Given the description of an element on the screen output the (x, y) to click on. 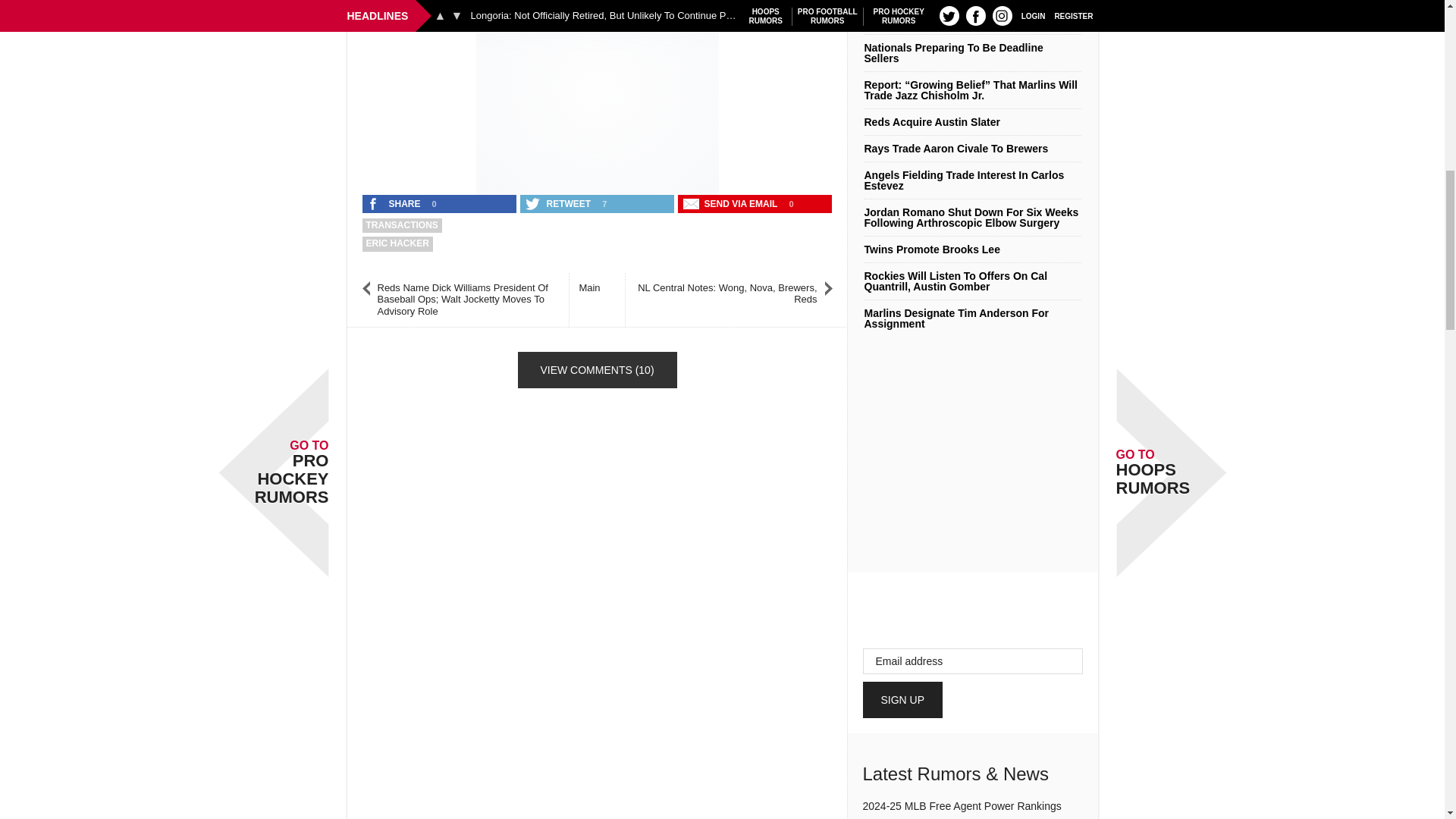
Sign Up (903, 699)
3rd party ad content (597, 93)
